Given the description of an element on the screen output the (x, y) to click on. 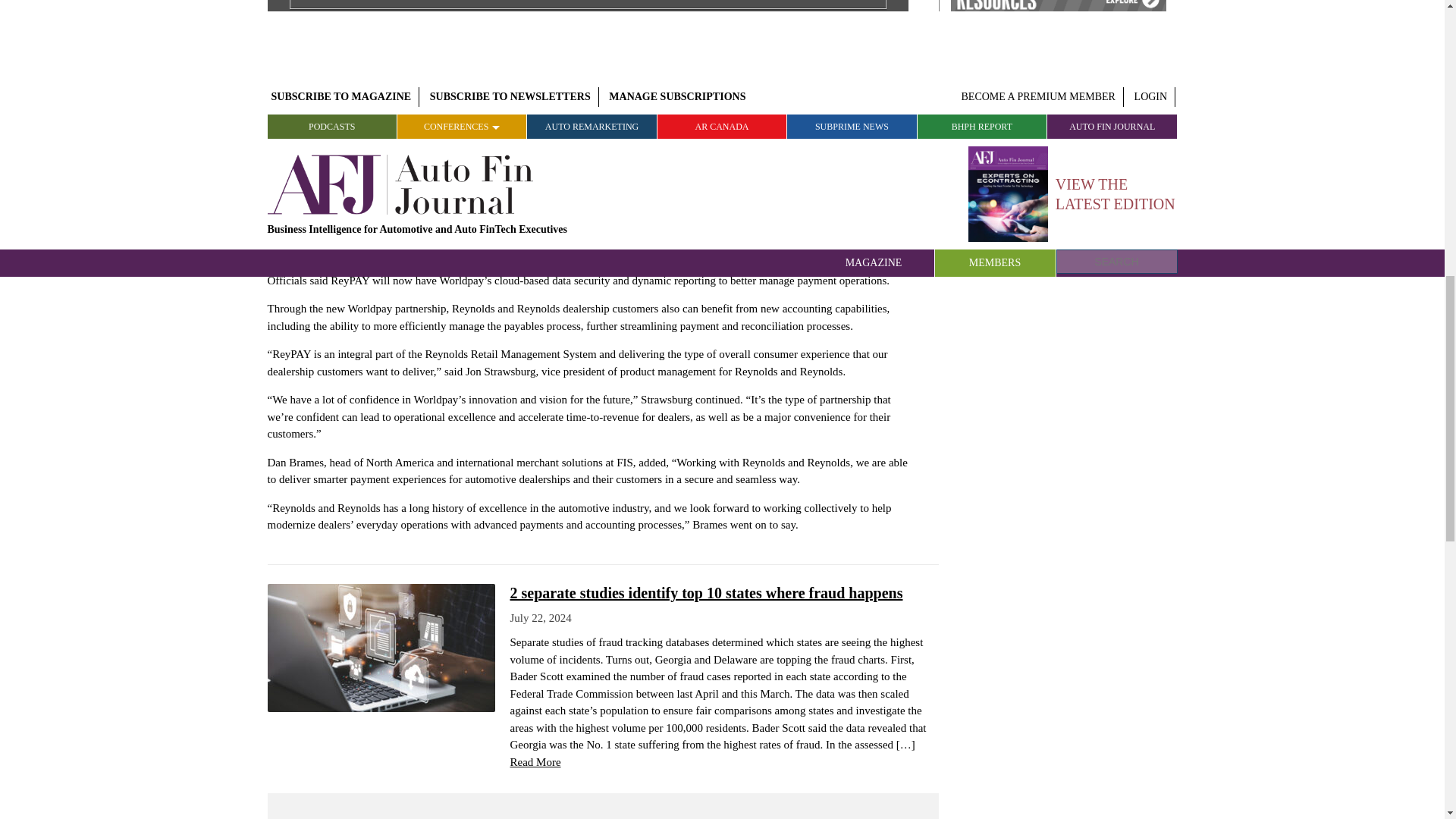
Facebook (744, 102)
Twitter (780, 102)
Email (853, 102)
LinkedIn (817, 102)
